Given the description of an element on the screen output the (x, y) to click on. 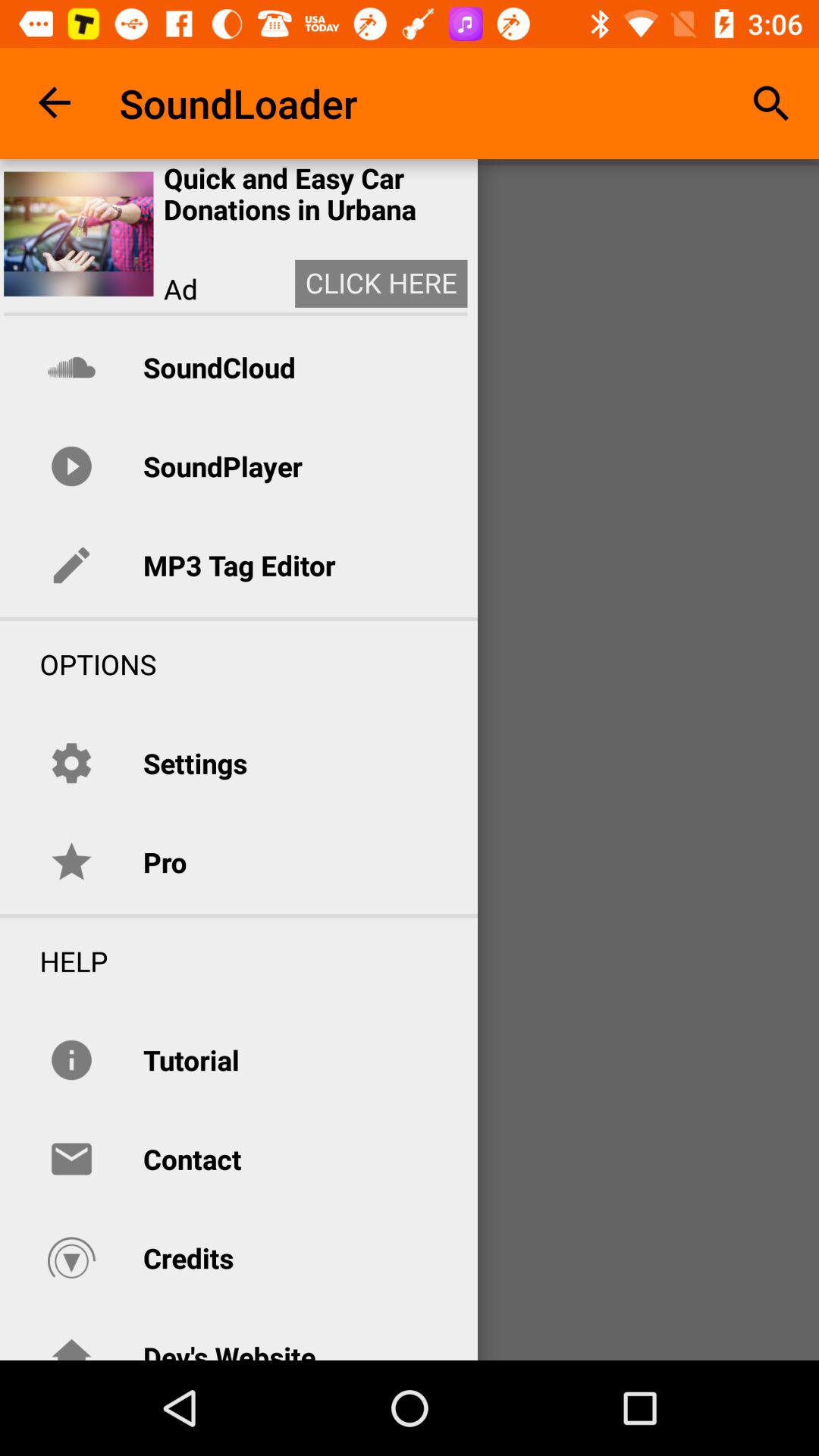
select item above dev's website item (188, 1257)
